Given the description of an element on the screen output the (x, y) to click on. 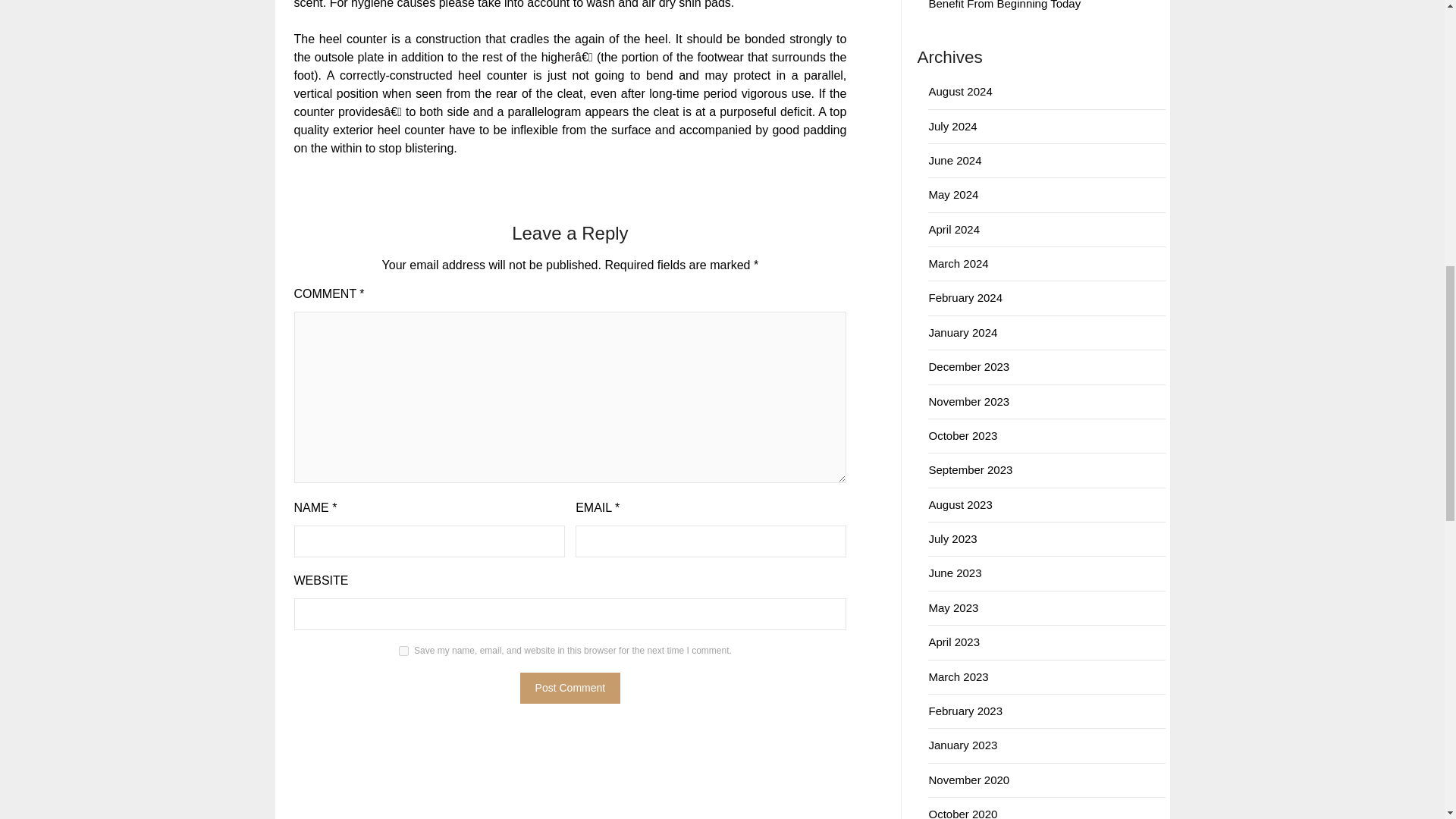
April 2024 (953, 228)
yes (403, 651)
November 2023 (968, 400)
August 2023 (959, 504)
Post Comment (570, 686)
March 2023 (958, 676)
July 2023 (952, 538)
May 2024 (953, 194)
August 2024 (959, 91)
